Given the description of an element on the screen output the (x, y) to click on. 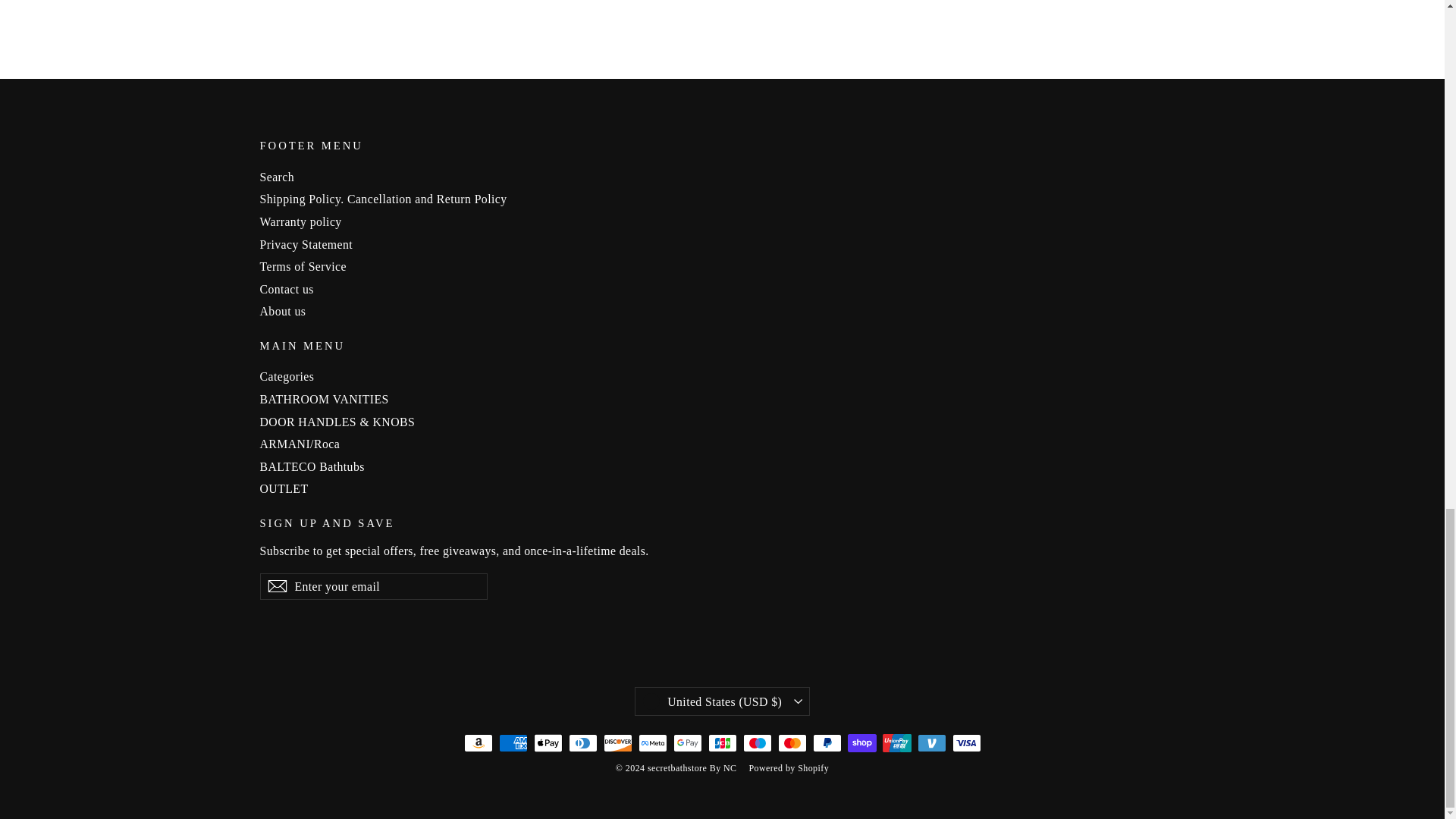
Discover (617, 742)
JCB (721, 742)
Amazon (478, 742)
Meta Pay (652, 742)
Diners Club (582, 742)
Apple Pay (548, 742)
icon-email (276, 586)
American Express (513, 742)
Google Pay (686, 742)
